Given the description of an element on the screen output the (x, y) to click on. 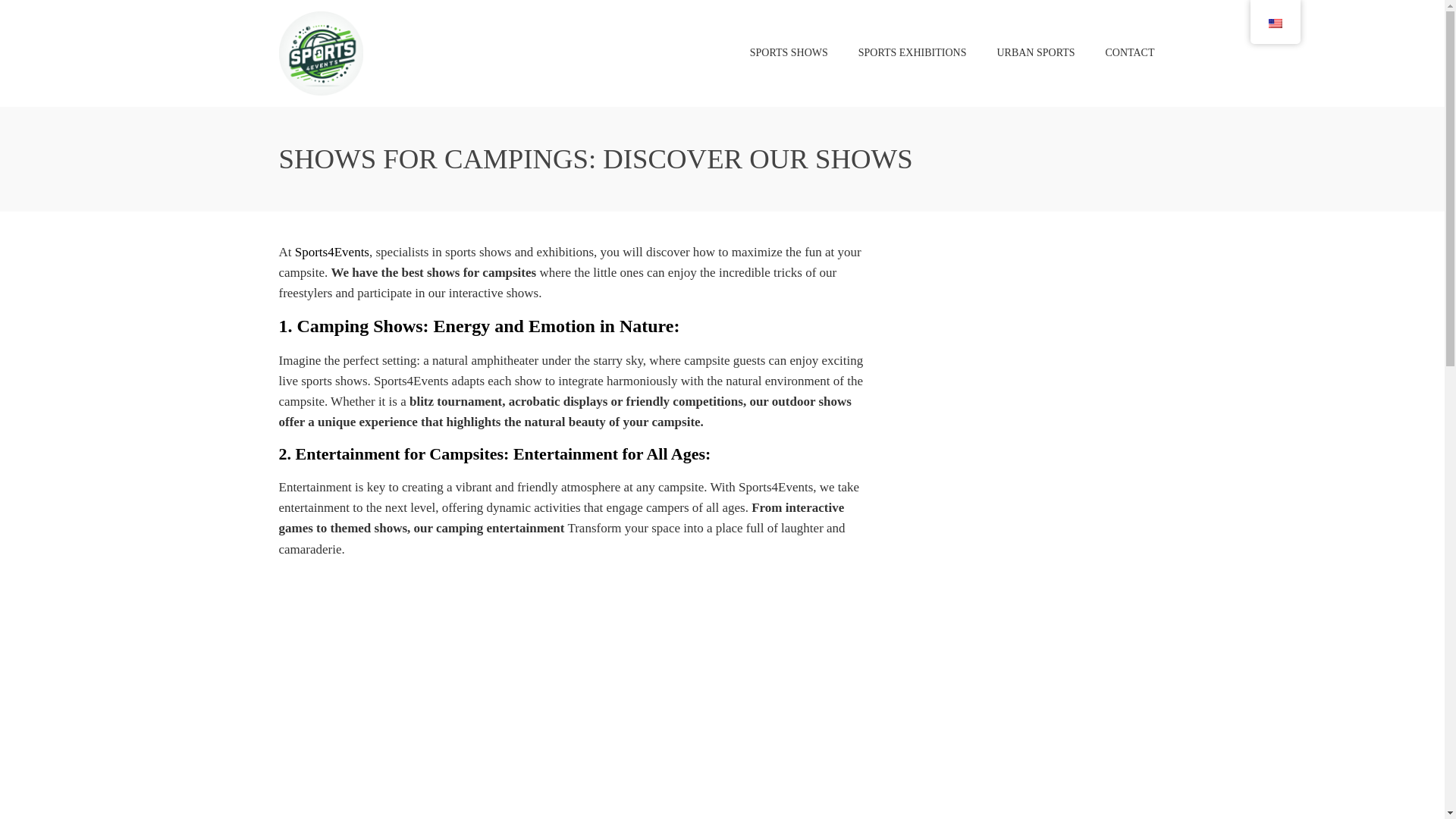
Sports4Events (332, 251)
SPORTS SHOWS (789, 52)
URBAN SPORTS (1035, 52)
SPORTS EXHIBITIONS (912, 52)
English (1274, 22)
CONTACT (1129, 52)
